Given the description of an element on the screen output the (x, y) to click on. 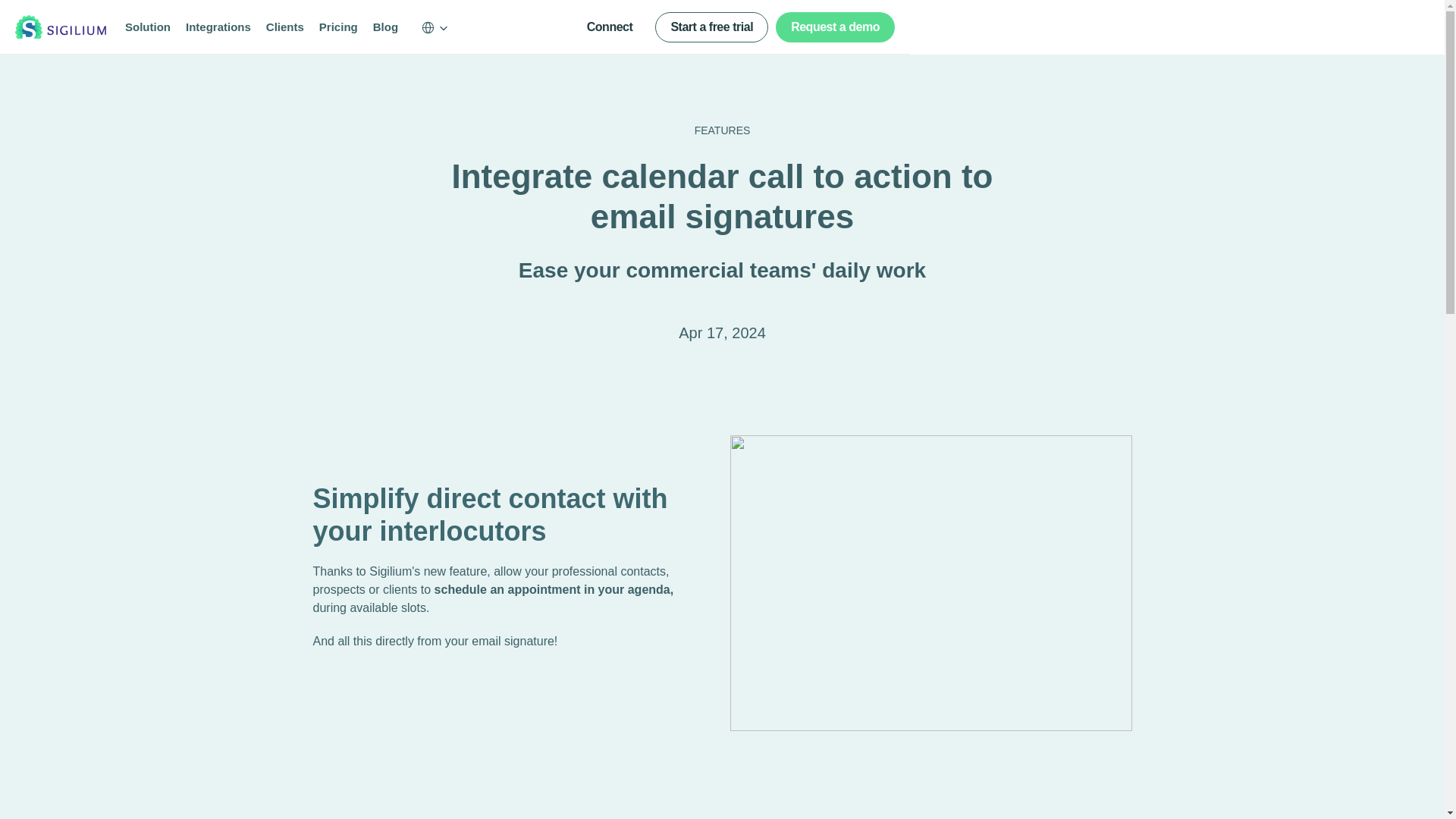
Connect (609, 27)
Request a demo (835, 27)
Blog (384, 26)
Clients (285, 26)
Solution (147, 26)
Start a free trial (711, 27)
Pricing (338, 26)
